Given the description of an element on the screen output the (x, y) to click on. 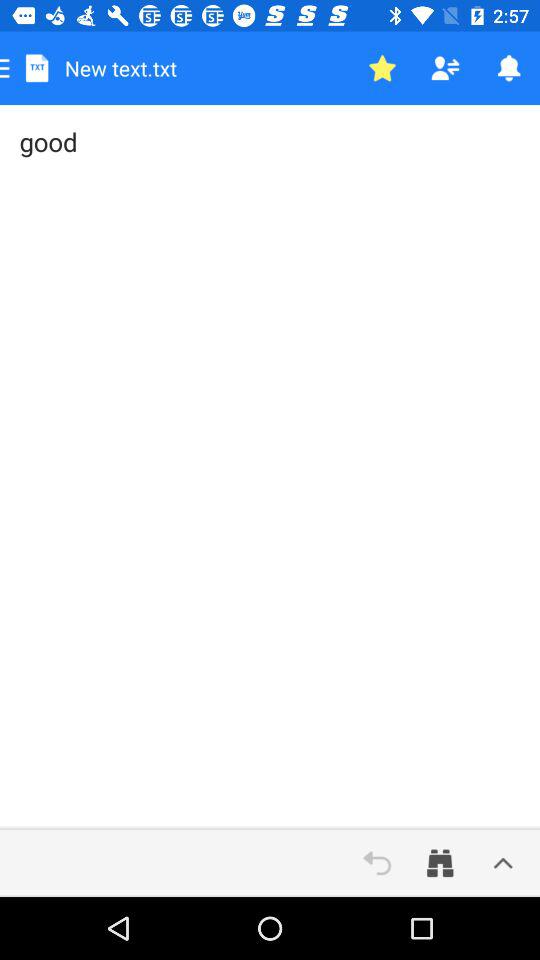
toggle star status (382, 68)
